Given the description of an element on the screen output the (x, y) to click on. 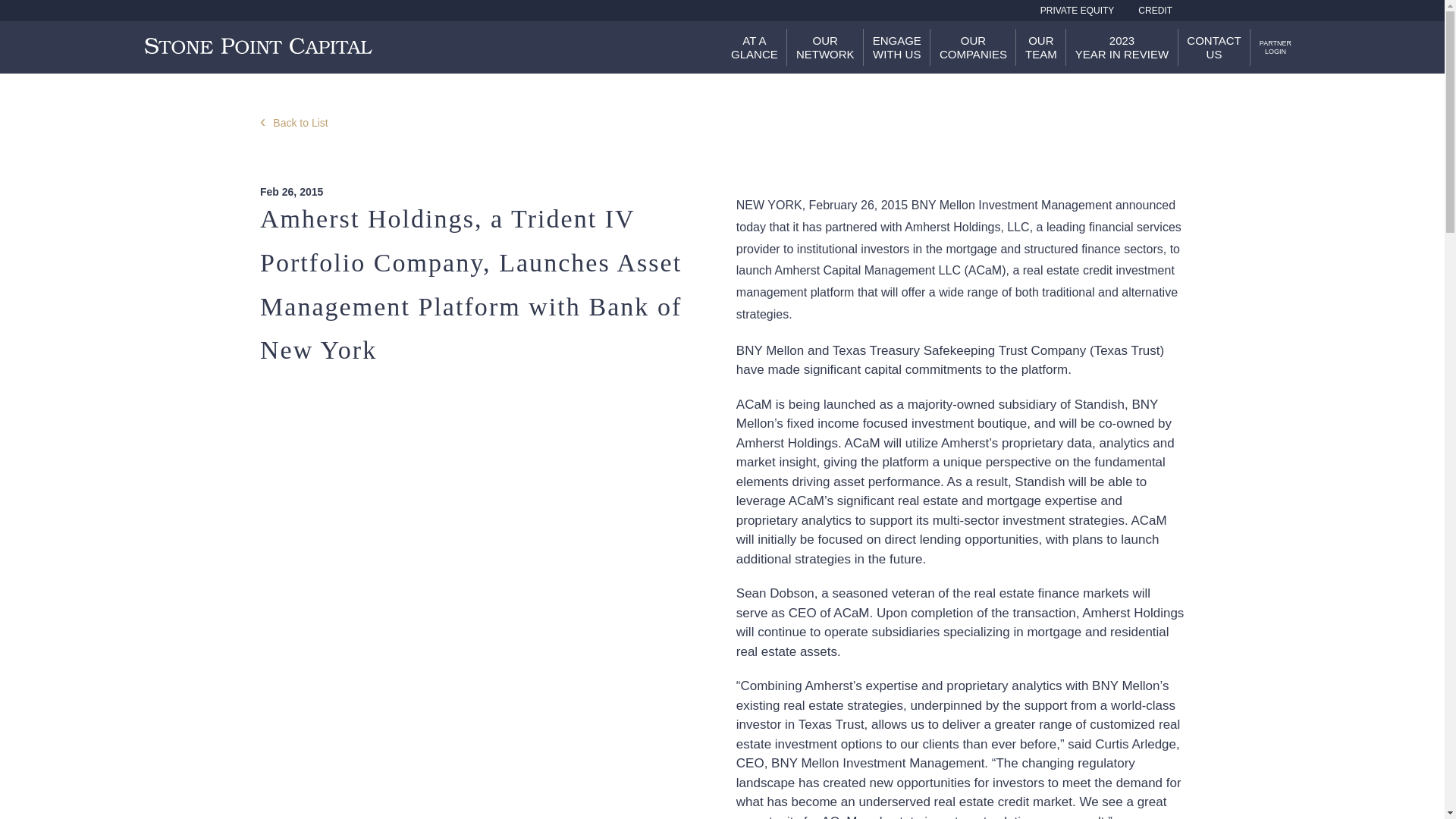
CREDIT (754, 47)
PRIVATE EQUITY (1275, 47)
Back to List (825, 47)
